Given the description of an element on the screen output the (x, y) to click on. 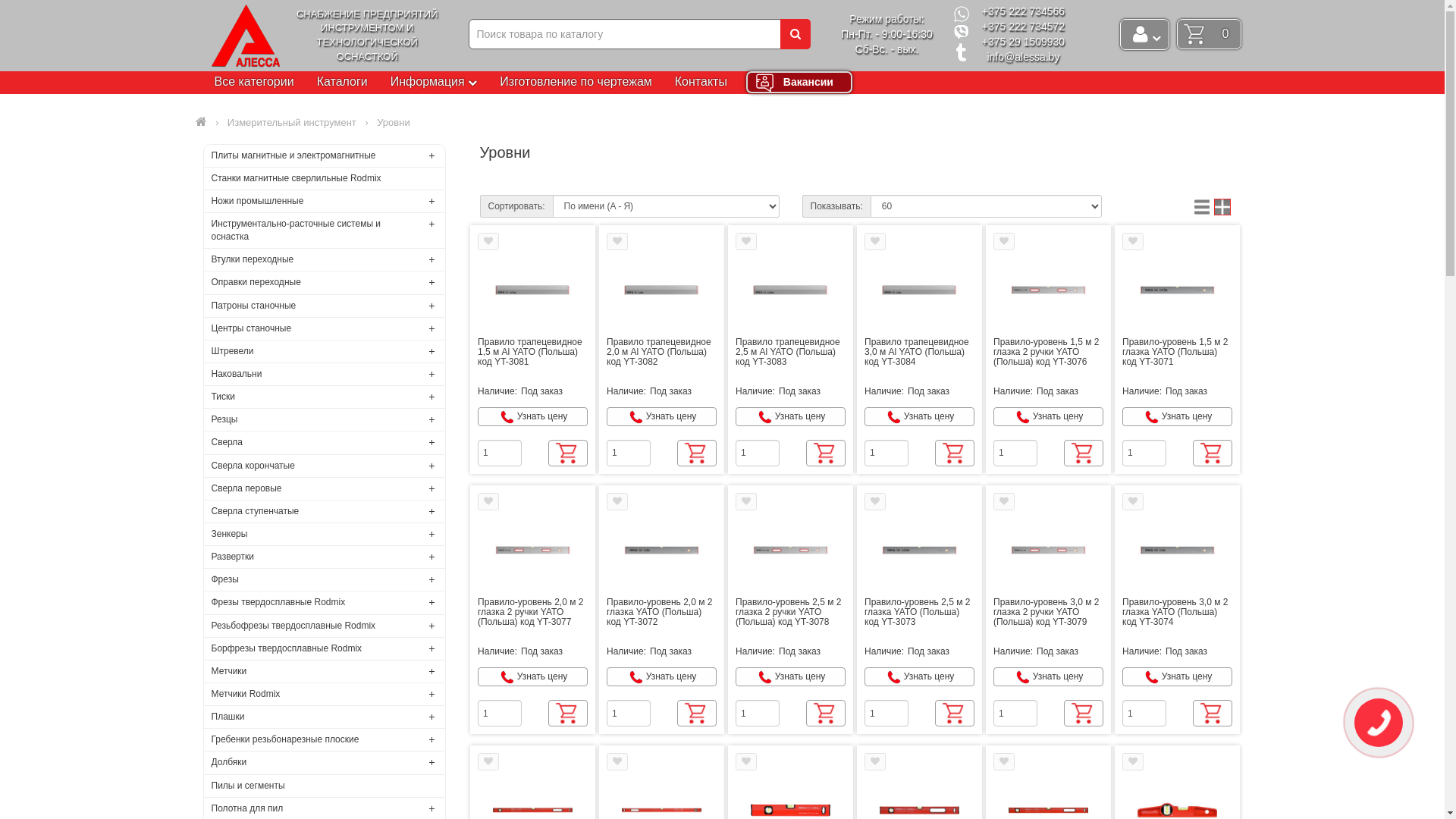
+375 29 1509930 Element type: text (1023, 41)
+375 222 734572 Element type: text (1023, 26)
0 Element type: text (1208, 27)
0 Element type: text (1208, 33)
+375 222 734566 Element type: text (1023, 11)
info@alessa.by Element type: text (1022, 56)
